Given the description of an element on the screen output the (x, y) to click on. 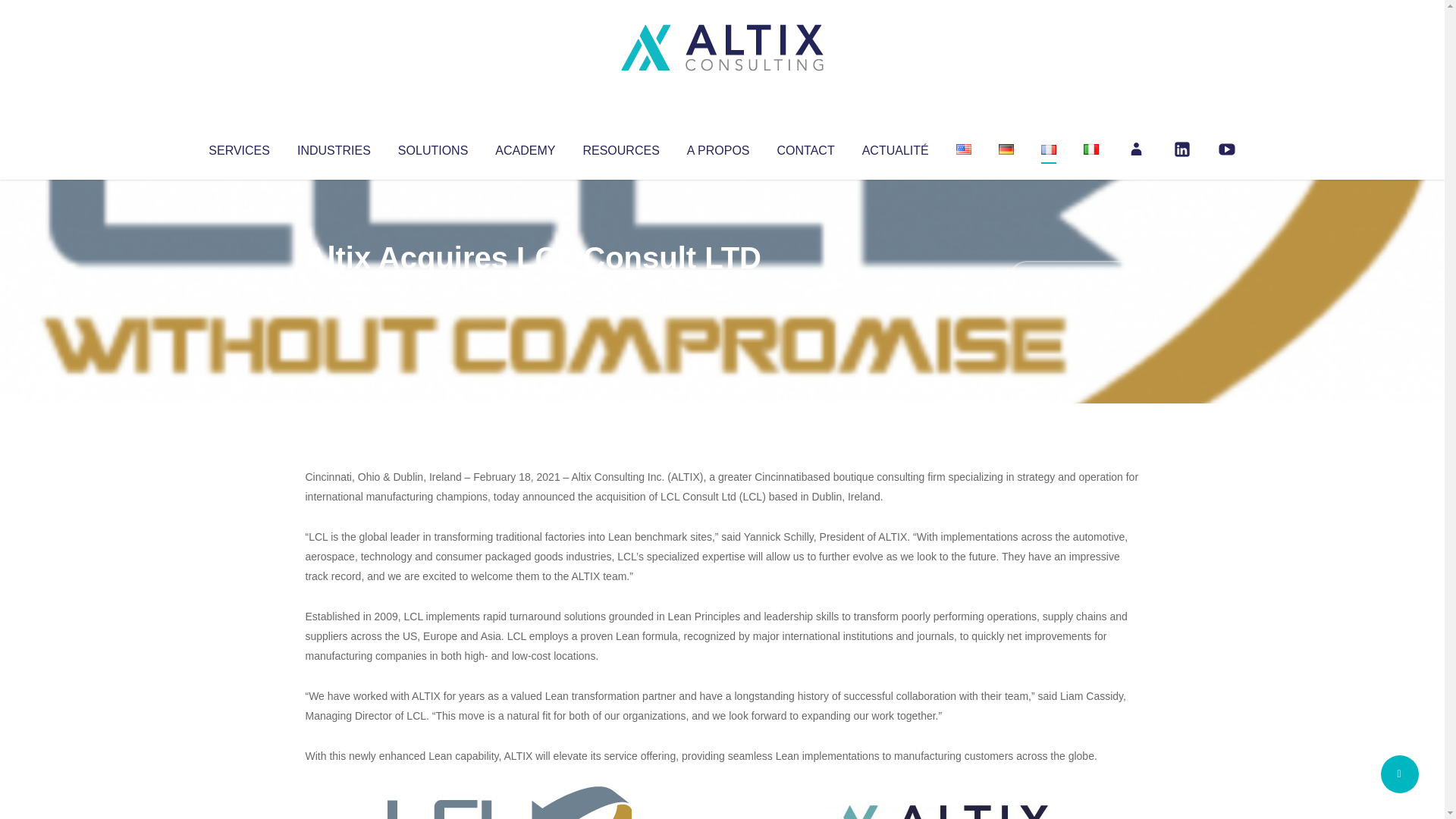
A PROPOS (718, 146)
Uncategorized (530, 287)
SOLUTIONS (432, 146)
No Comments (1073, 278)
INDUSTRIES (334, 146)
SERVICES (238, 146)
Altix (333, 287)
Articles par Altix (333, 287)
ACADEMY (524, 146)
RESOURCES (620, 146)
